Given the description of an element on the screen output the (x, y) to click on. 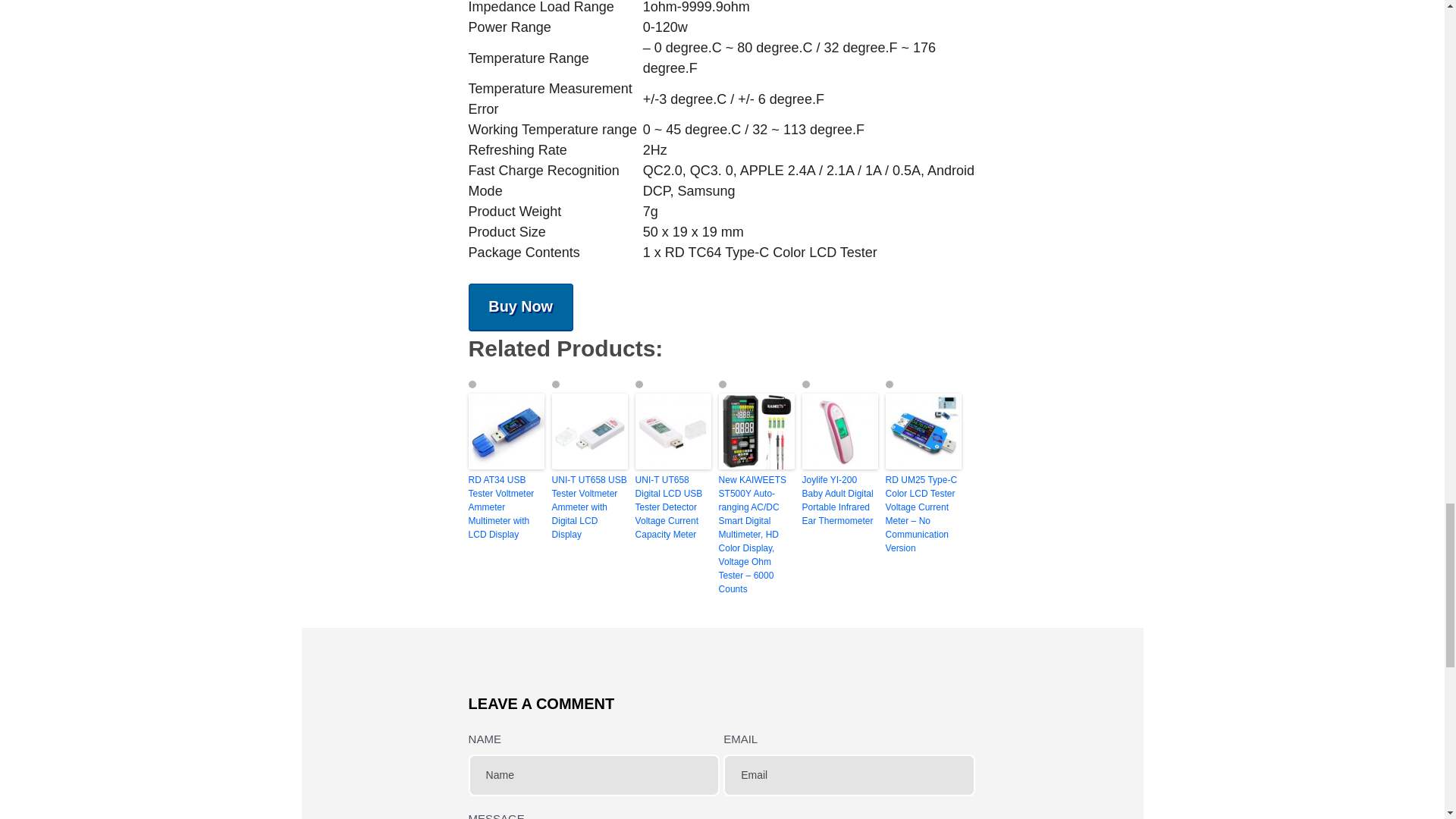
Buy Now (520, 306)
